Given the description of an element on the screen output the (x, y) to click on. 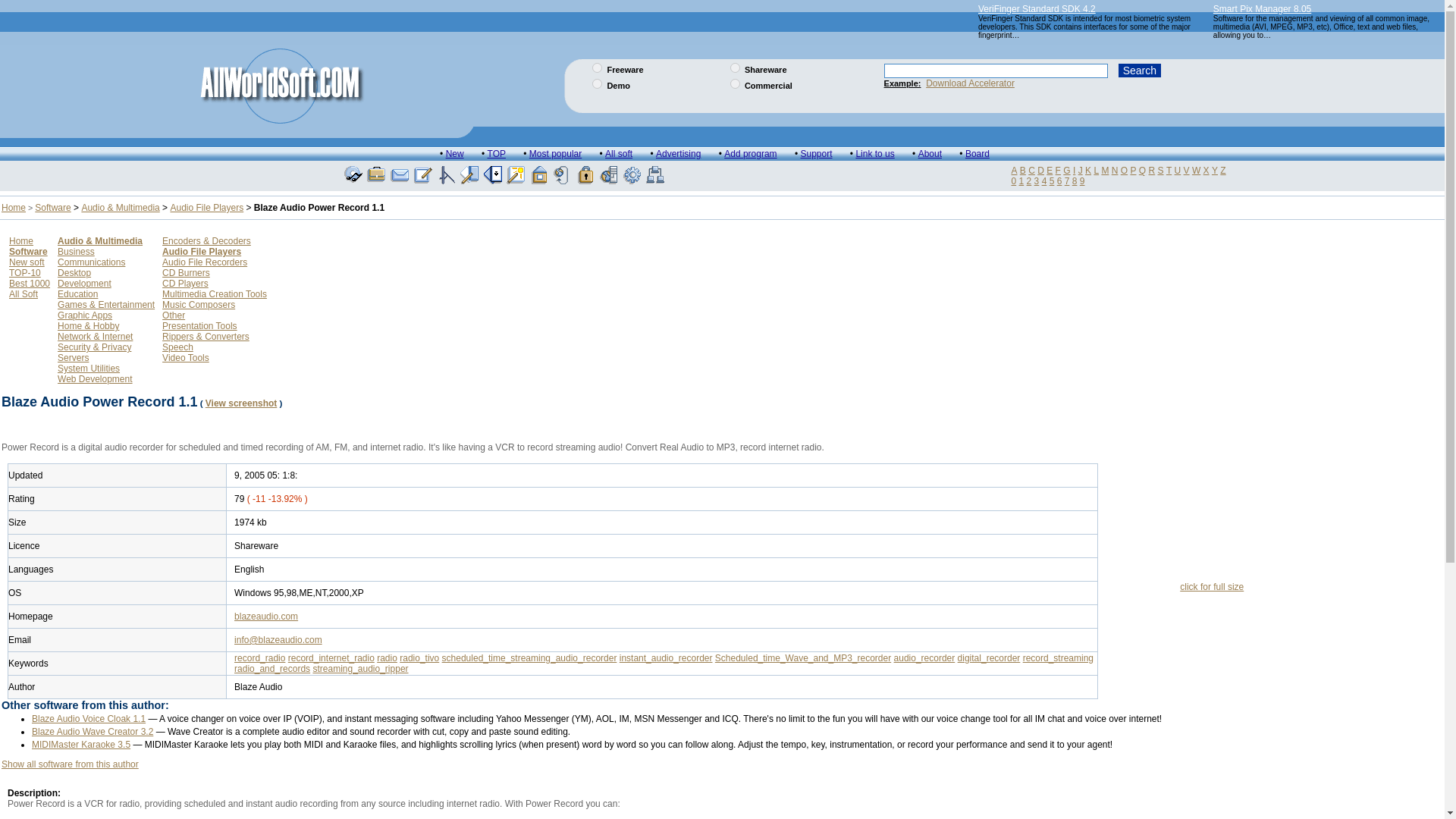
4 (734, 83)
Search (1139, 69)
VeriFinger Standard SDK 4.2 (1037, 9)
About (930, 153)
Support (815, 153)
New (454, 153)
Download Accelerator (970, 81)
Search (1139, 69)
Smart Pix Manager 8.05 (1261, 9)
3 (597, 83)
Advertising (678, 153)
2 (734, 67)
All soft (618, 153)
1 (597, 67)
Search (1139, 69)
